Given the description of an element on the screen output the (x, y) to click on. 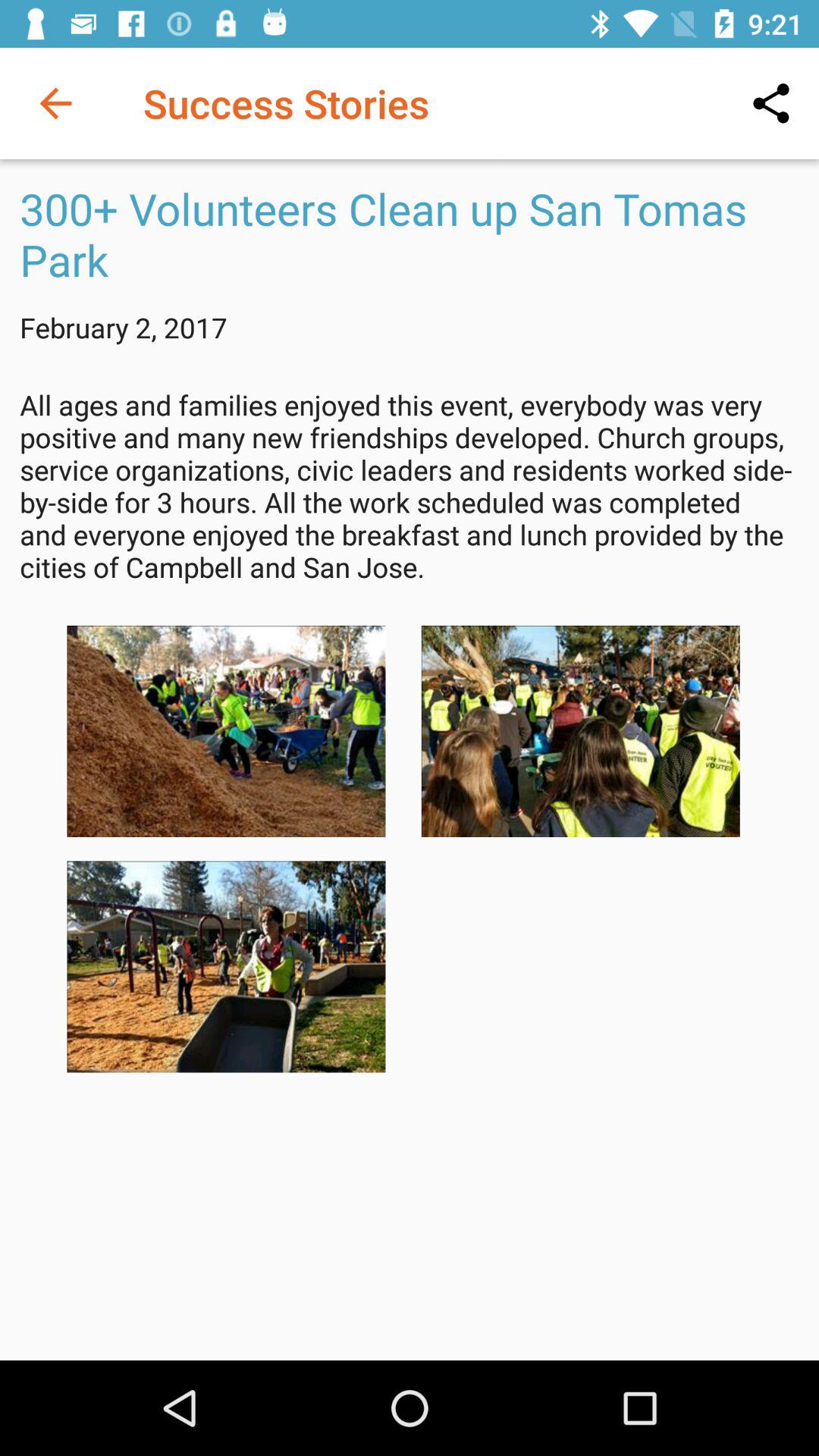
view image (580, 731)
